Given the description of an element on the screen output the (x, y) to click on. 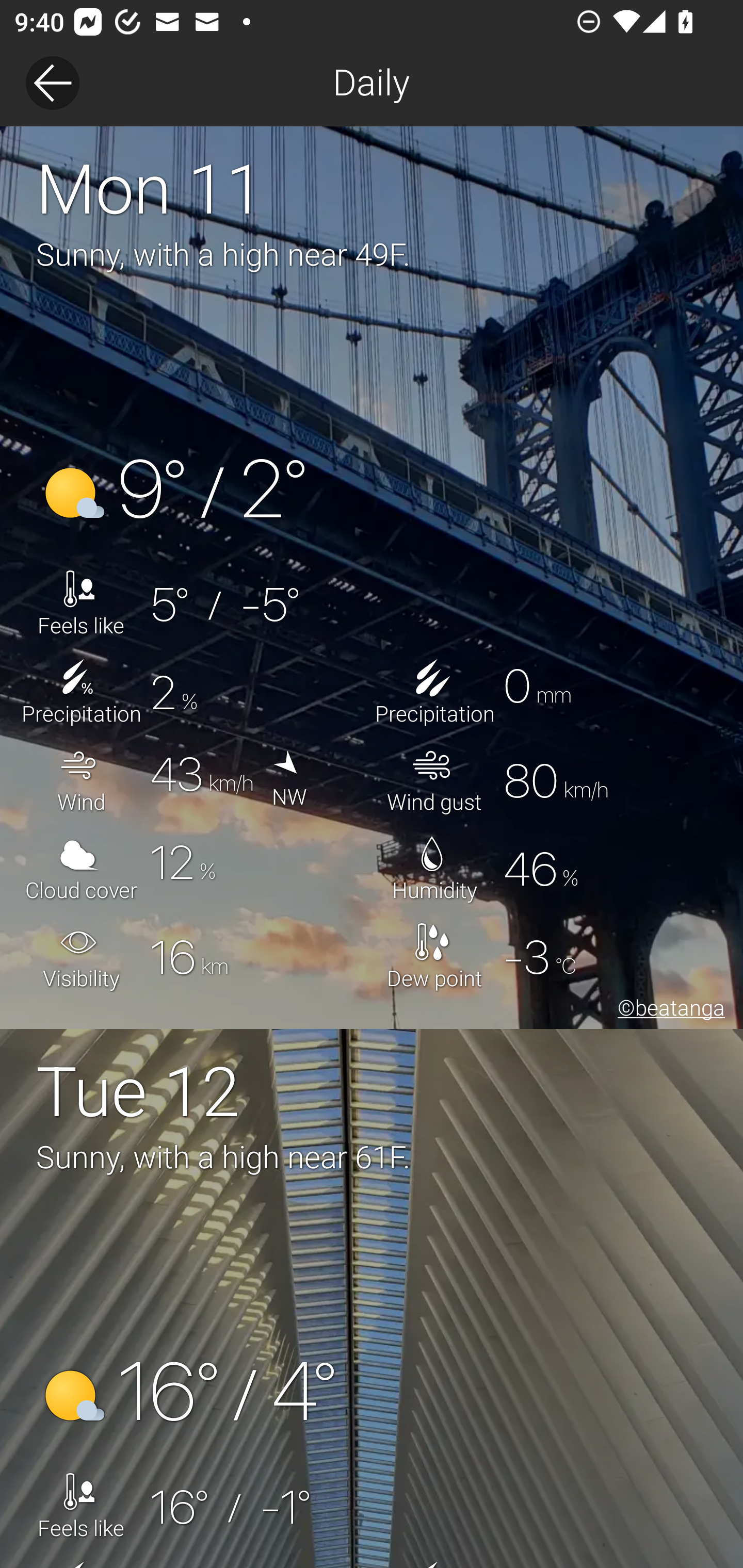
©beatanga (667, 1010)
